Given the description of an element on the screen output the (x, y) to click on. 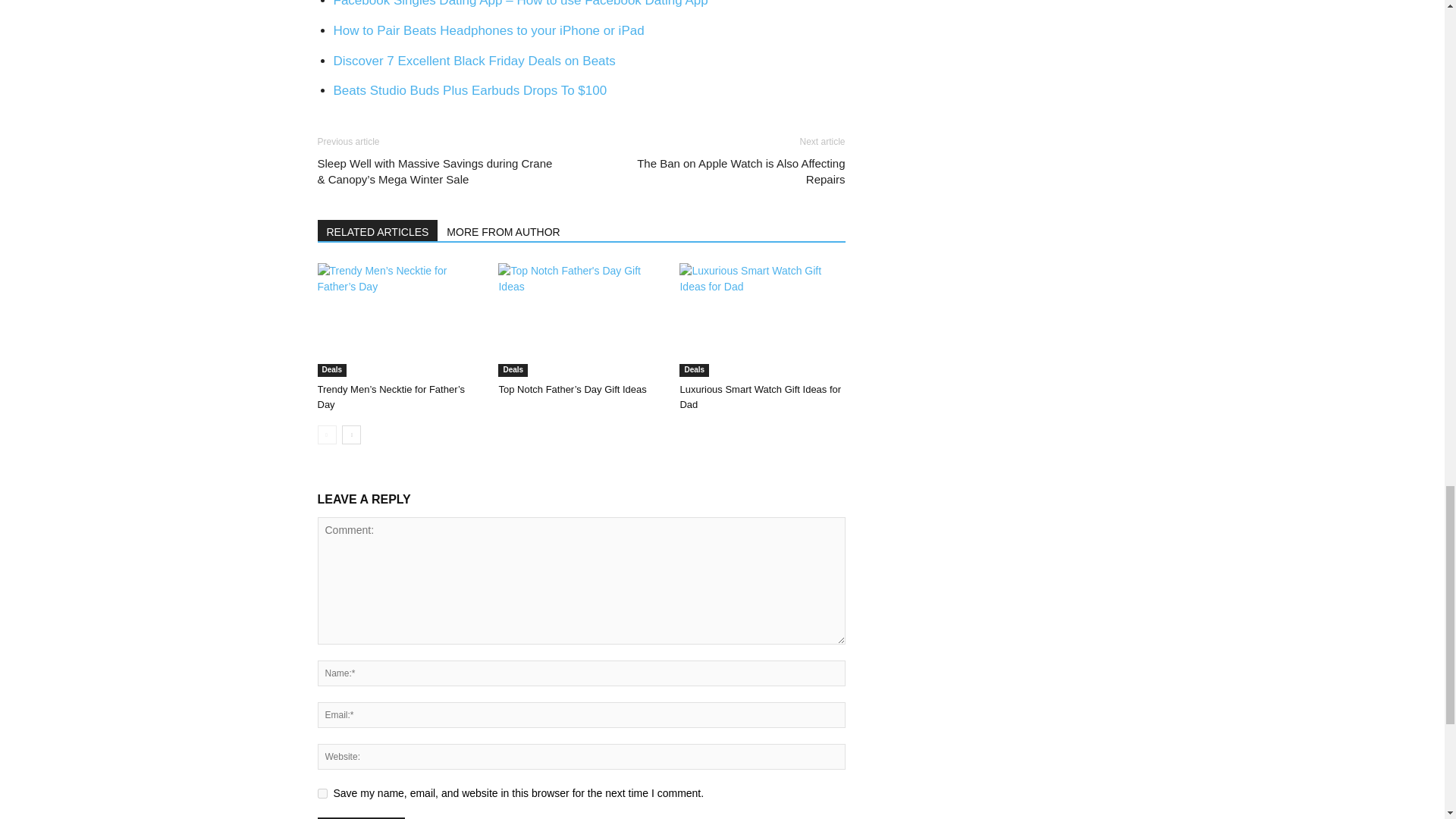
Post Comment (360, 818)
yes (321, 793)
